Given the description of an element on the screen output the (x, y) to click on. 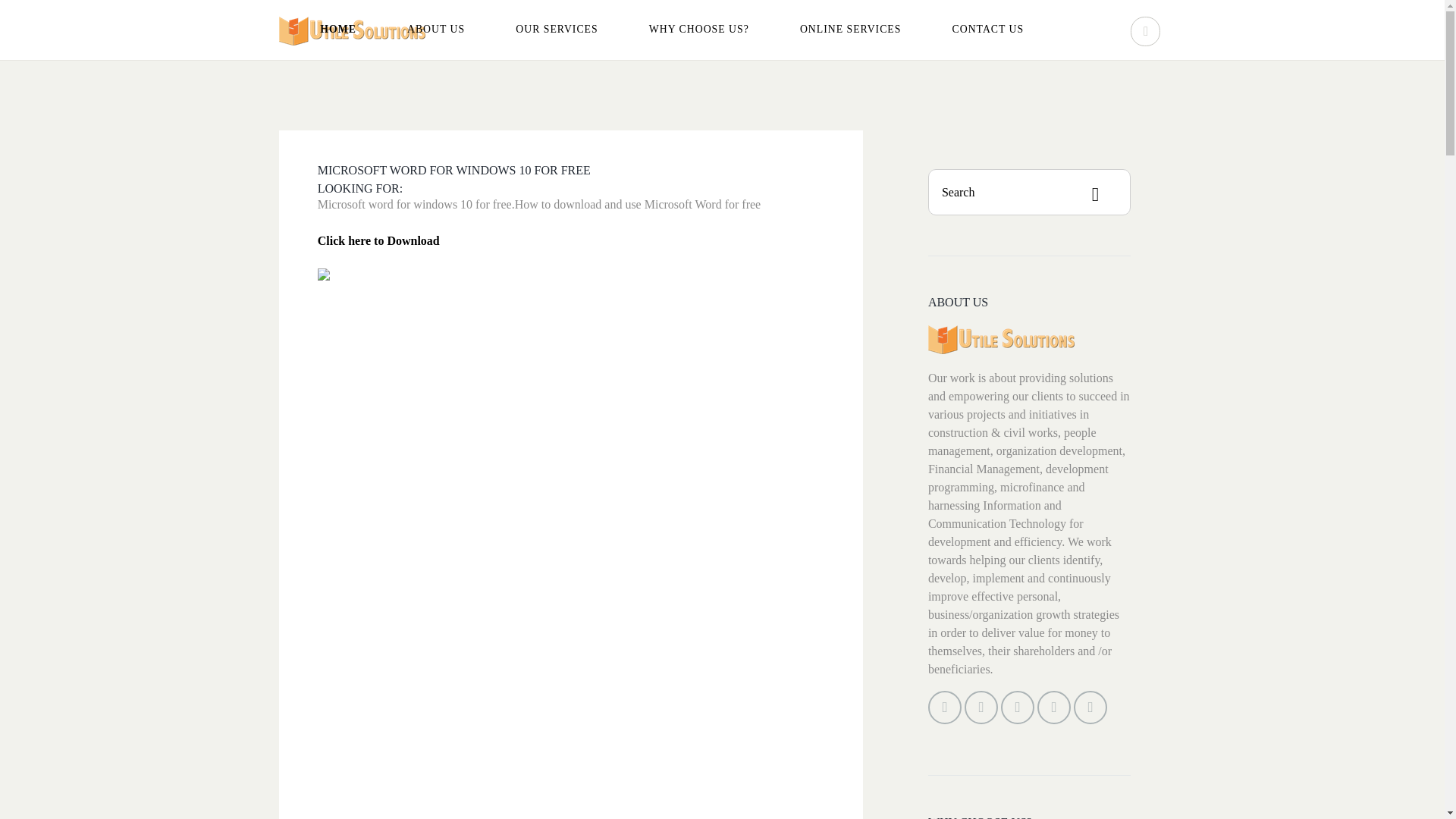
HOME (338, 29)
ABOUT US (435, 29)
ONLINE SERVICES (850, 29)
CONTACT US (988, 29)
WHY CHOOSE US? (699, 29)
Search for: (1029, 191)
OUR SERVICES (555, 29)
